Given the description of an element on the screen output the (x, y) to click on. 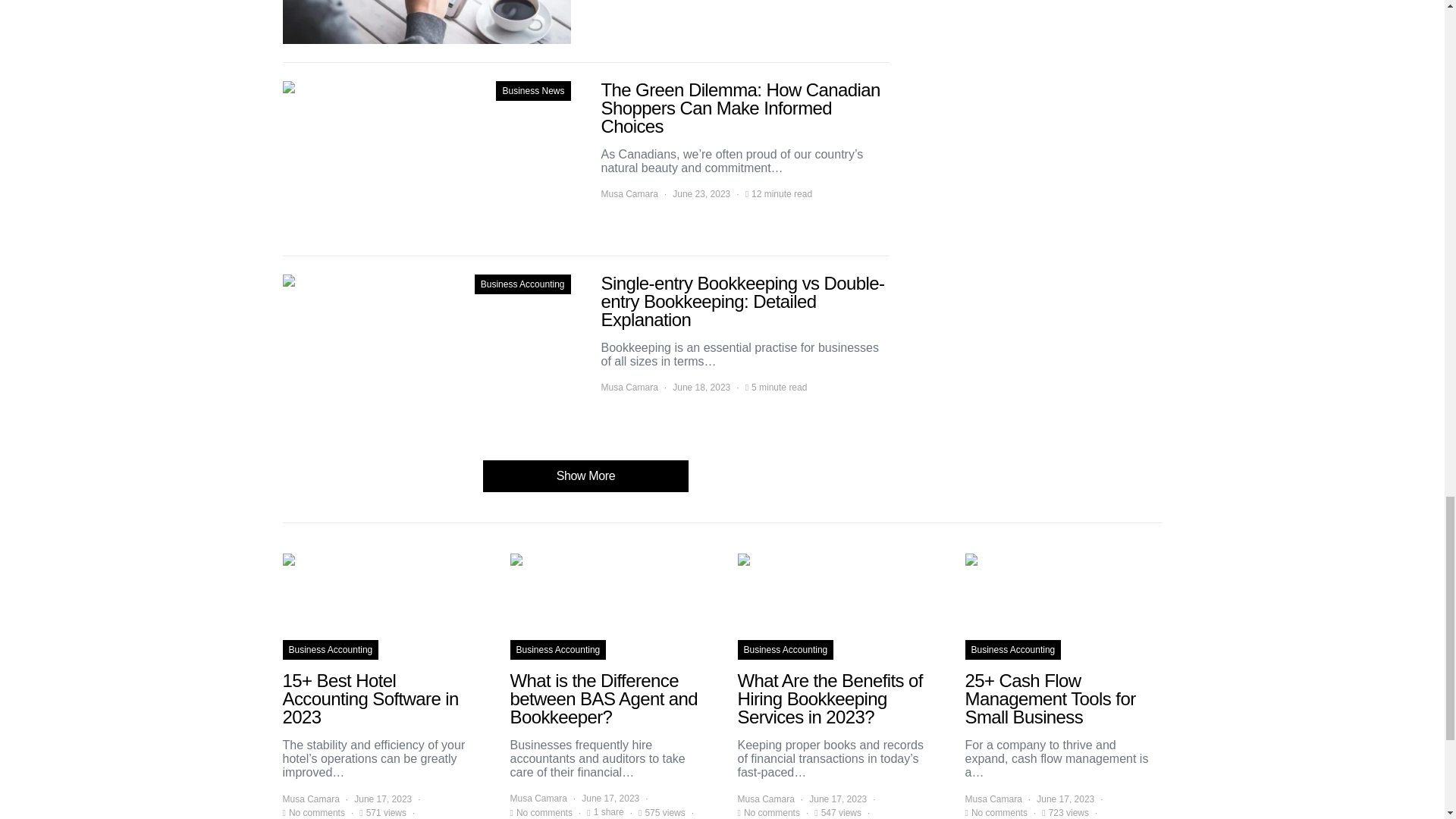
How Meta's decision affects news media in Canada 7 (426, 22)
View all posts by Musa Camara (628, 386)
View all posts by Musa Camara (628, 193)
